Given the description of an element on the screen output the (x, y) to click on. 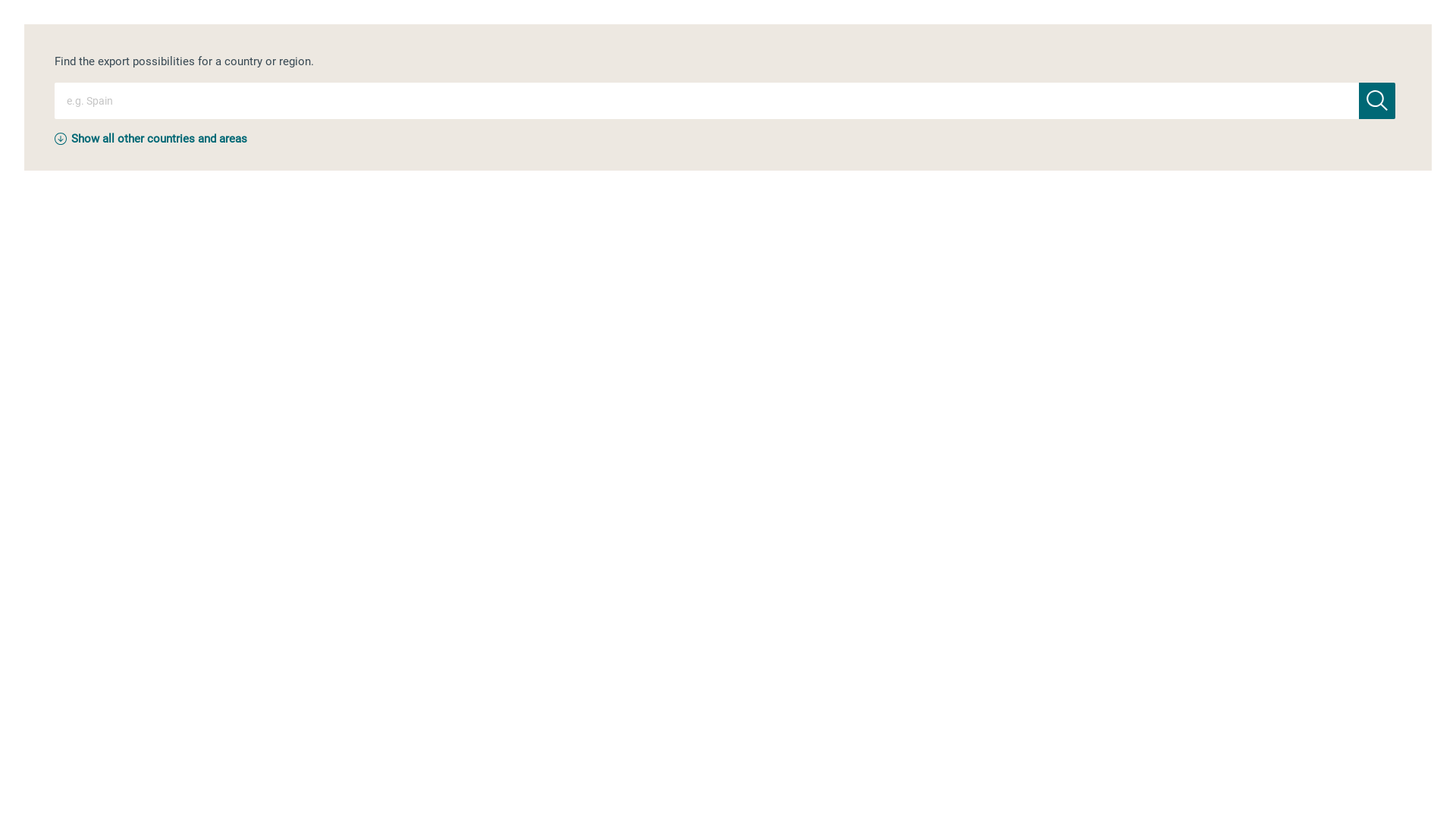
Show all other countries and areas Element type: text (158, 138)
